Given the description of an element on the screen output the (x, y) to click on. 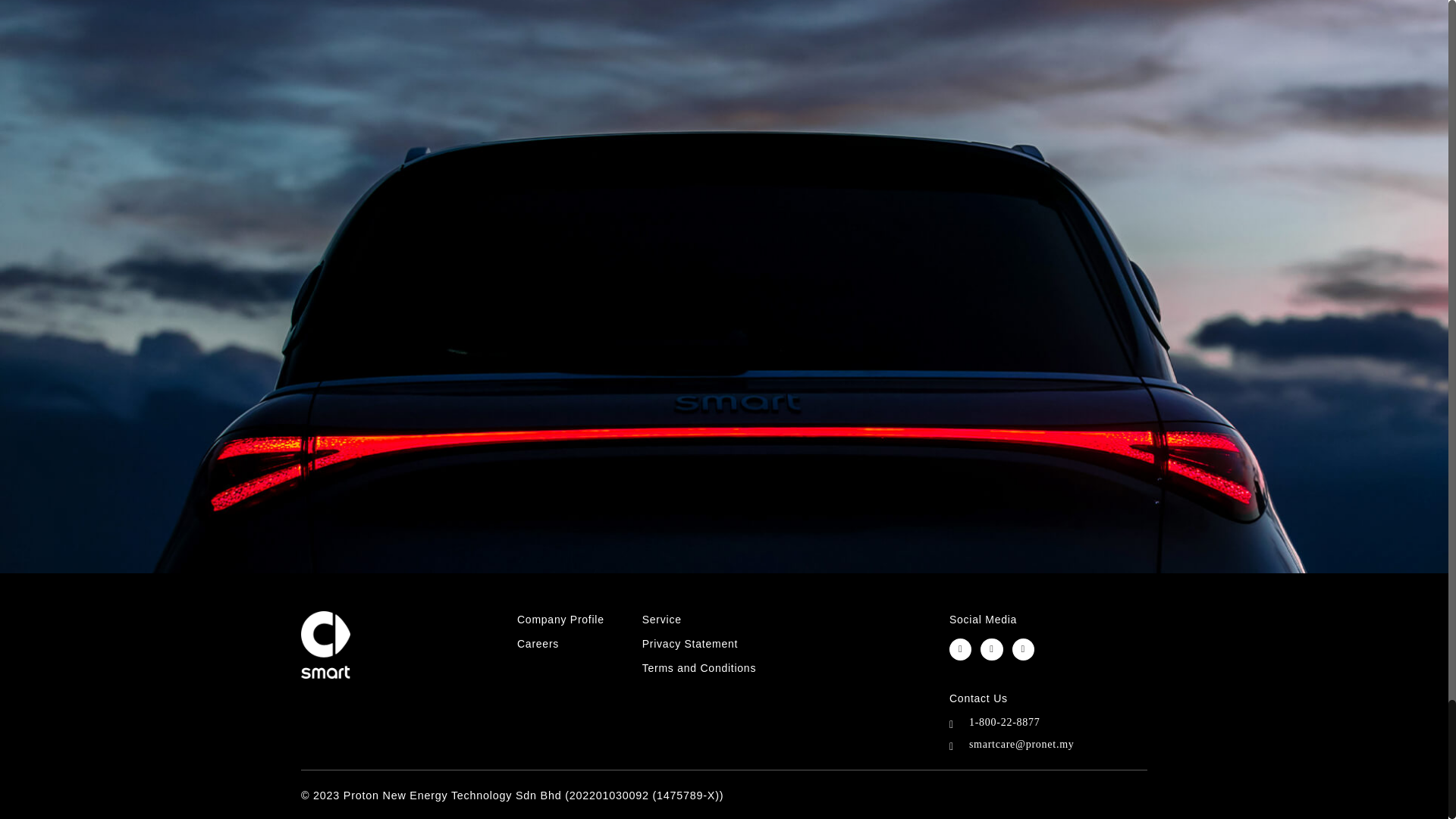
Company Profile (560, 619)
Facebook (960, 649)
Instagram (991, 649)
Careers (537, 644)
Tiktok (1022, 649)
